Given the description of an element on the screen output the (x, y) to click on. 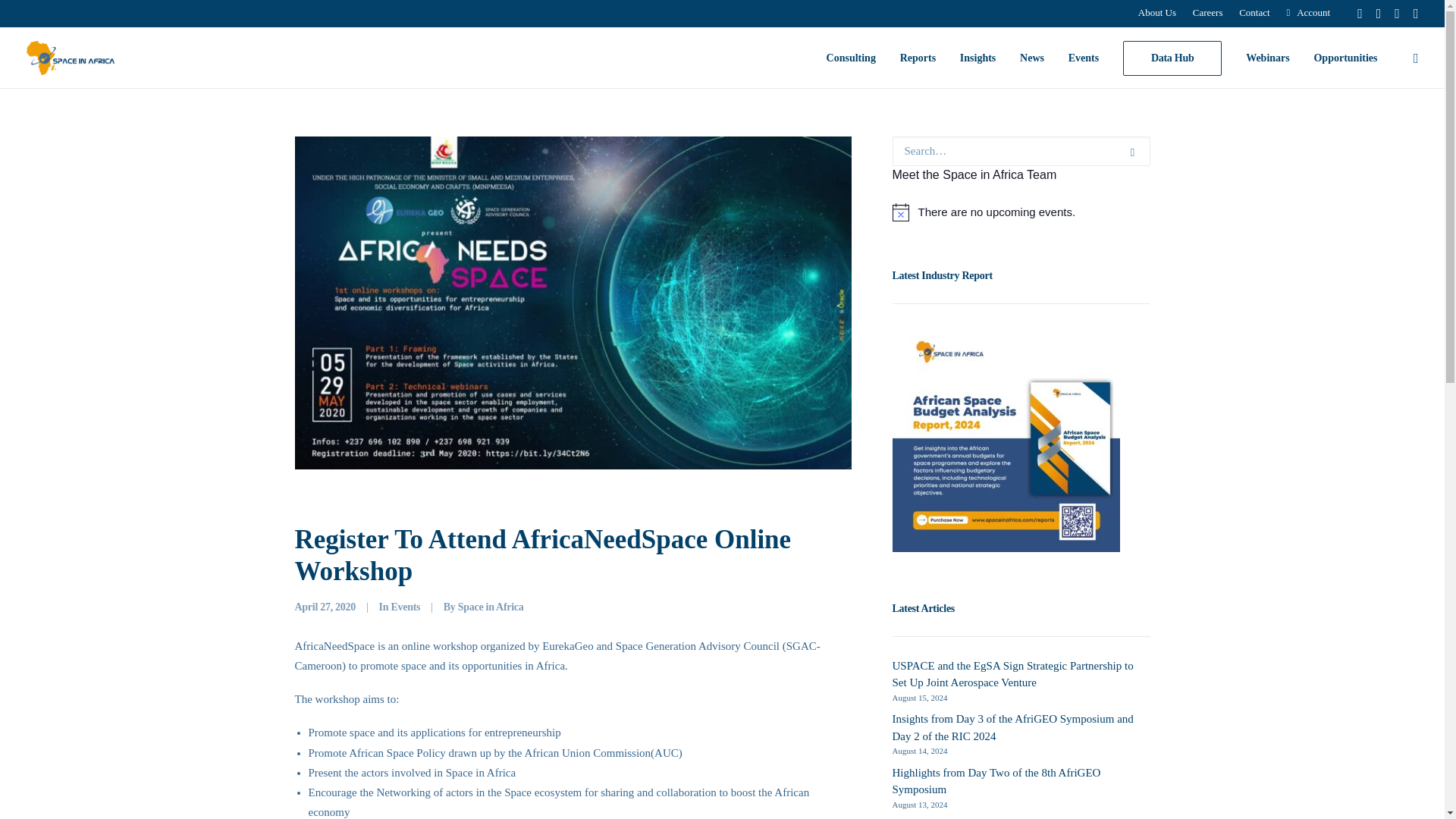
Account (1307, 12)
Consulting (850, 57)
About Us (1156, 12)
Events (405, 606)
About Us (1156, 12)
Careers (1208, 12)
Opportunities (1340, 57)
Account (1307, 12)
Opportunities (1340, 57)
